Given the description of an element on the screen output the (x, y) to click on. 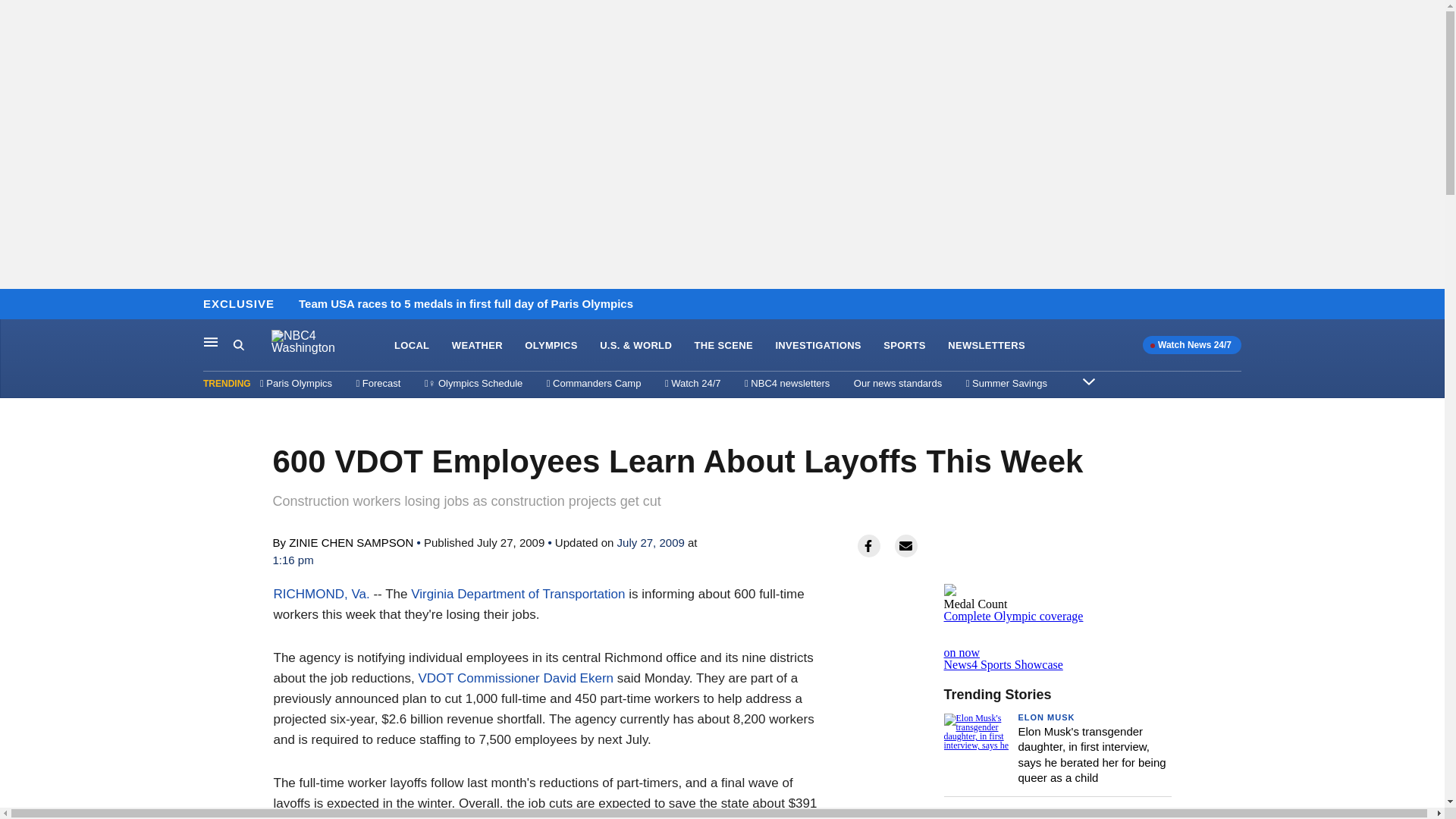
LOCAL (411, 345)
Skip to content (16, 304)
ELON MUSK (1045, 716)
OLYMPICS (550, 345)
Main Navigation (210, 341)
Expand (1088, 381)
INVESTIGATIONS (817, 345)
CELEBRITY NEWS (1059, 812)
Our news standards (897, 383)
NEWSLETTERS (1056, 646)
Search (986, 345)
Complete Olympic coverage (252, 345)
